Given the description of an element on the screen output the (x, y) to click on. 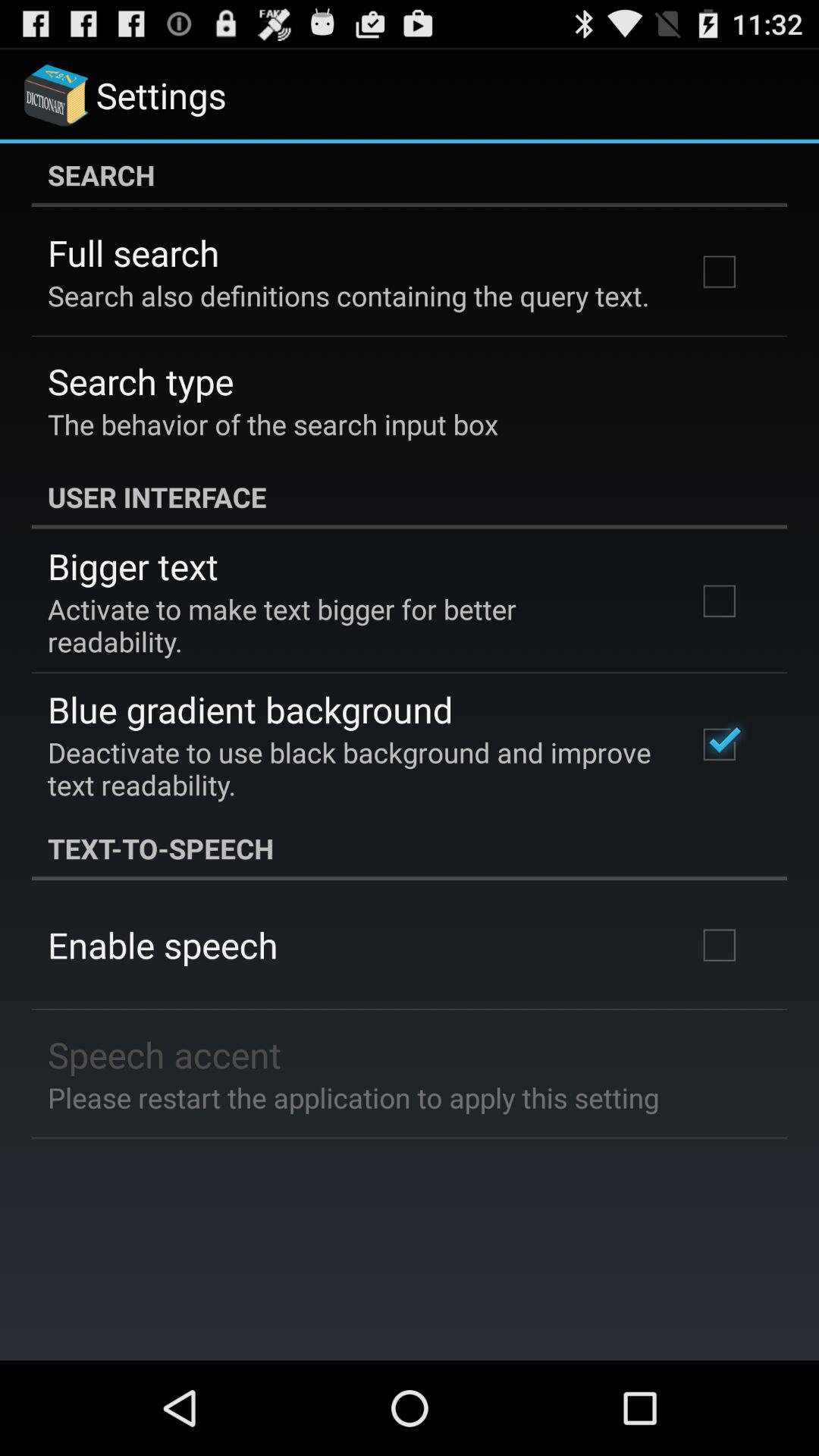
click the icon above the search also definitions icon (133, 252)
